Given the description of an element on the screen output the (x, y) to click on. 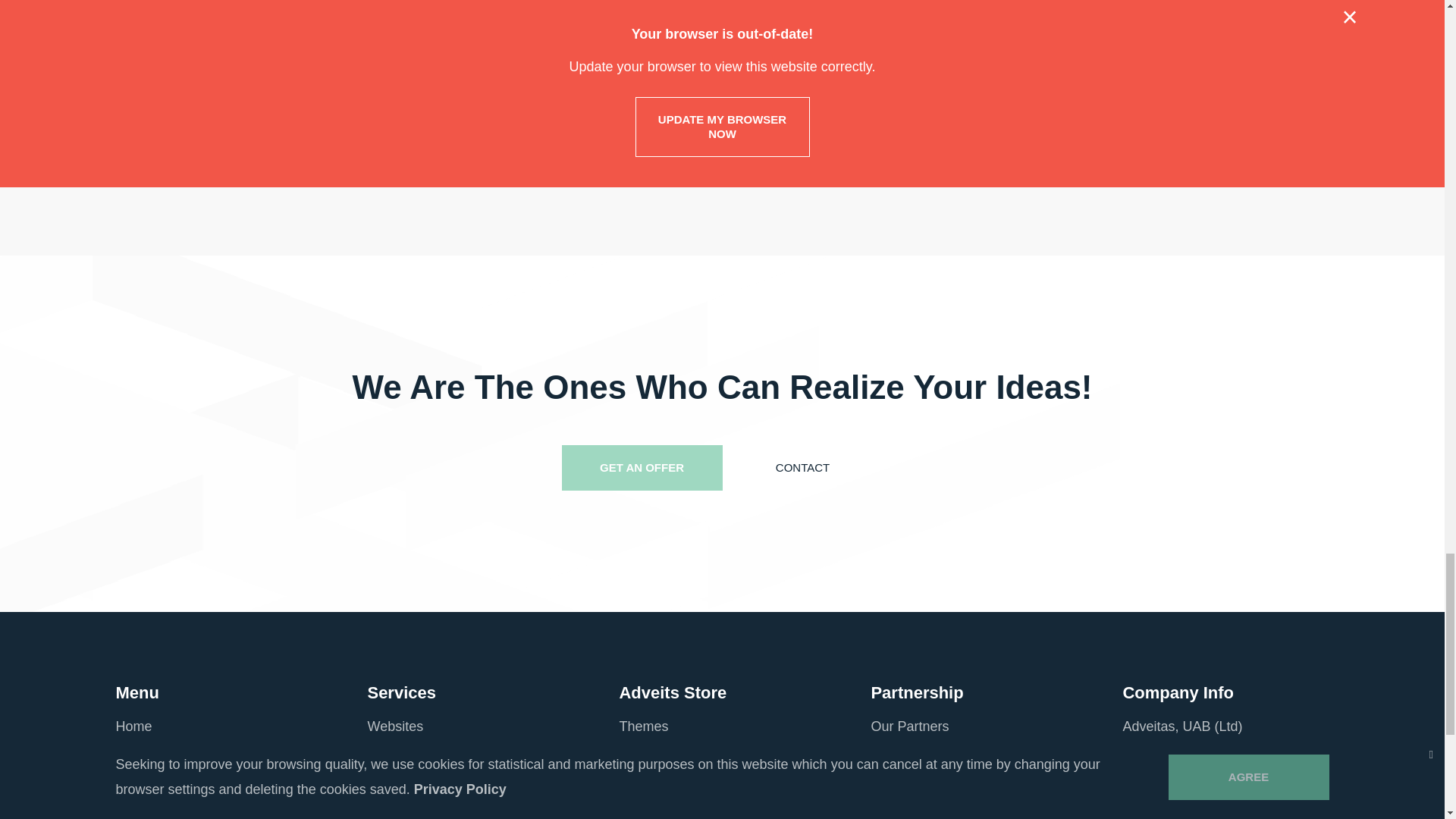
About Us (143, 756)
CONTACT (802, 467)
Services (141, 785)
Home (133, 726)
Contacts (141, 813)
GET AN OFFER (641, 467)
